Given the description of an element on the screen output the (x, y) to click on. 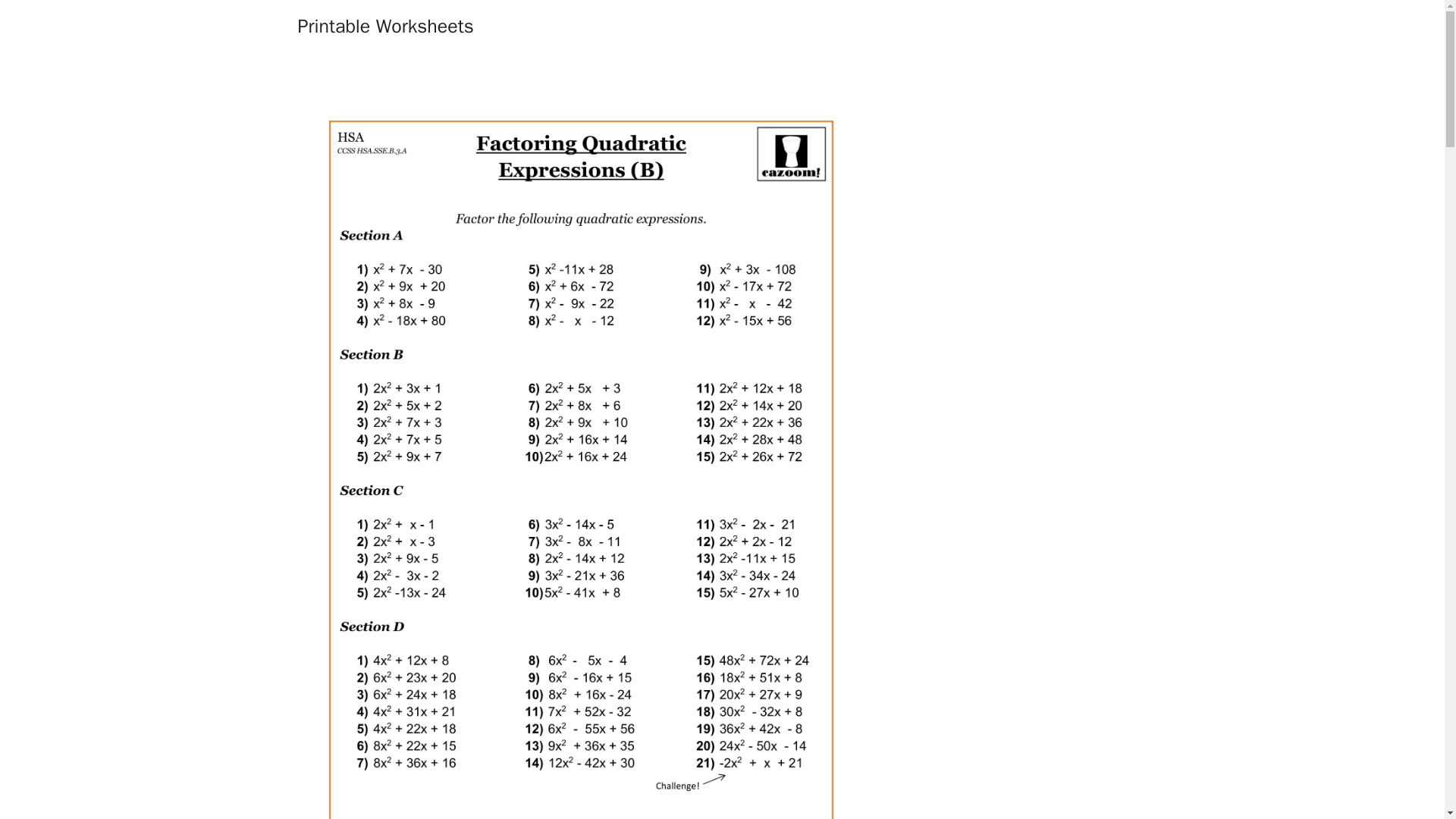
Printable Worksheets (385, 25)
